Given the description of an element on the screen output the (x, y) to click on. 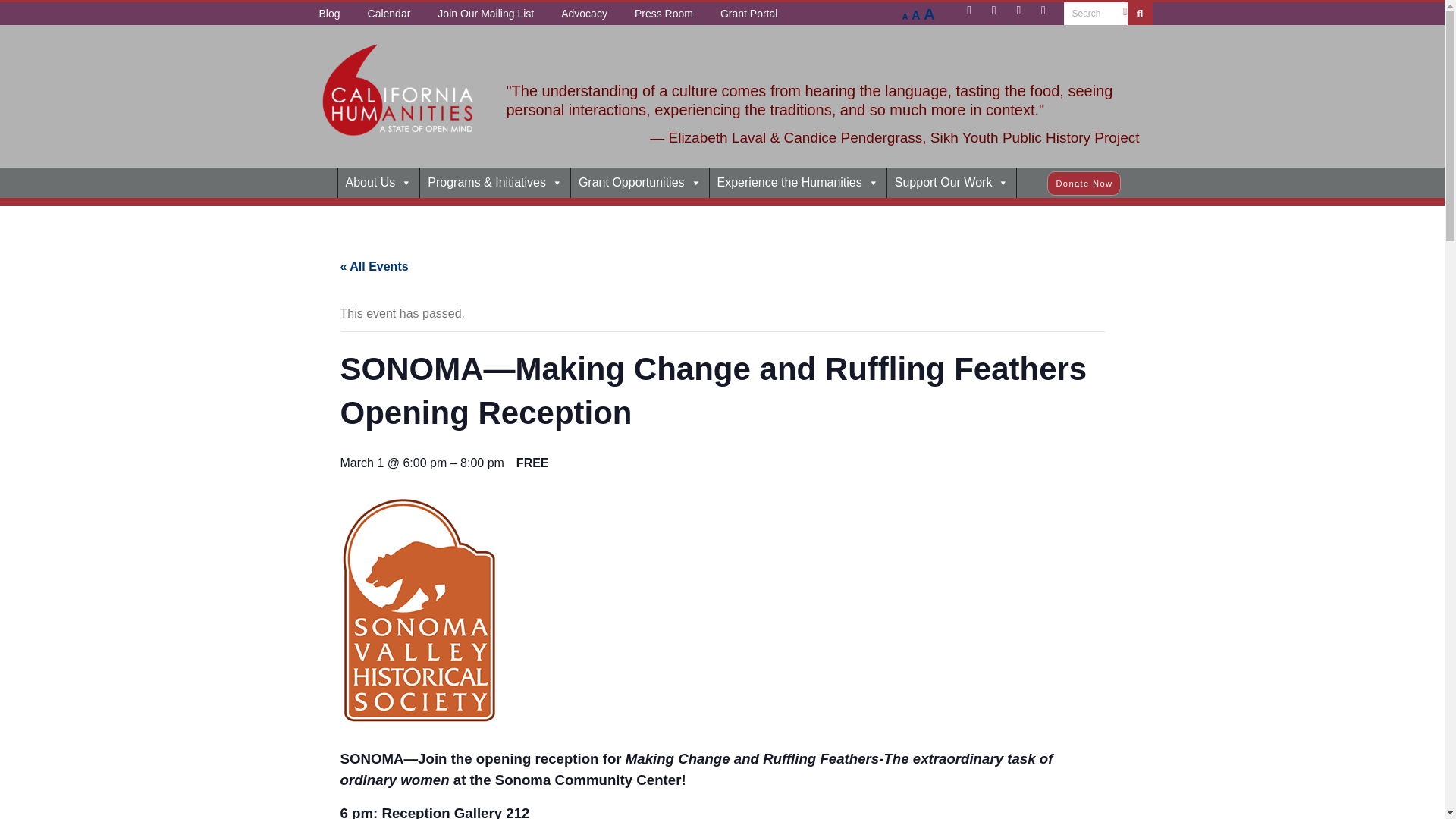
Press Room (663, 13)
Read our Blog (328, 13)
Upcoming Events (389, 13)
Learn about Advocacy (584, 13)
Blog (328, 13)
About Us (378, 182)
Grant Portal (748, 13)
Home (316, 182)
View the Press Room (663, 13)
Join Our Mailing List (485, 13)
